Given the description of an element on the screen output the (x, y) to click on. 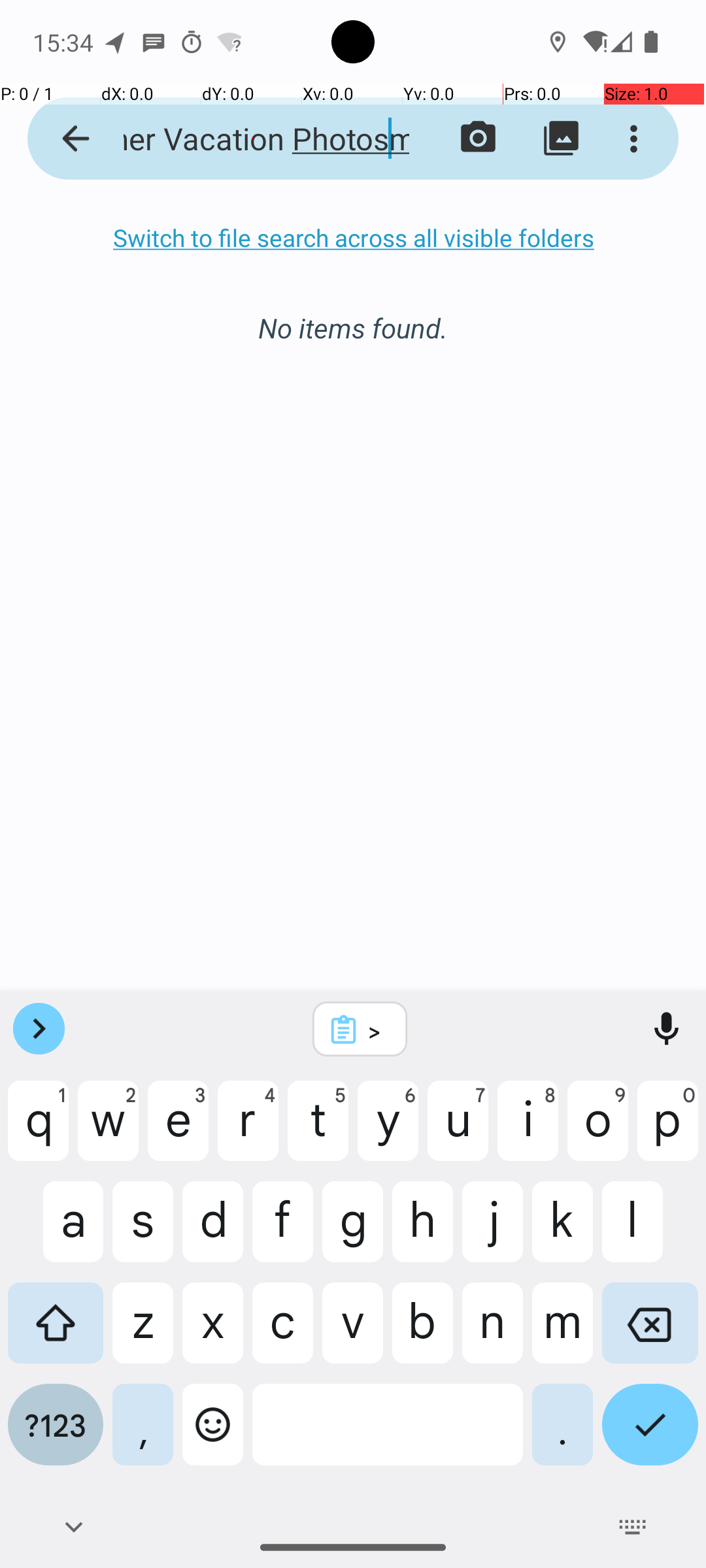
Switch to file search across all visible folders Element type: android.widget.TextView (353, 237)
Vacation Beach trip Summer Vacation Photosmemoriesphotos Element type: android.widget.EditText (252, 138)
>  Element type: android.widget.TextView (377, 1029)
